Given the description of an element on the screen output the (x, y) to click on. 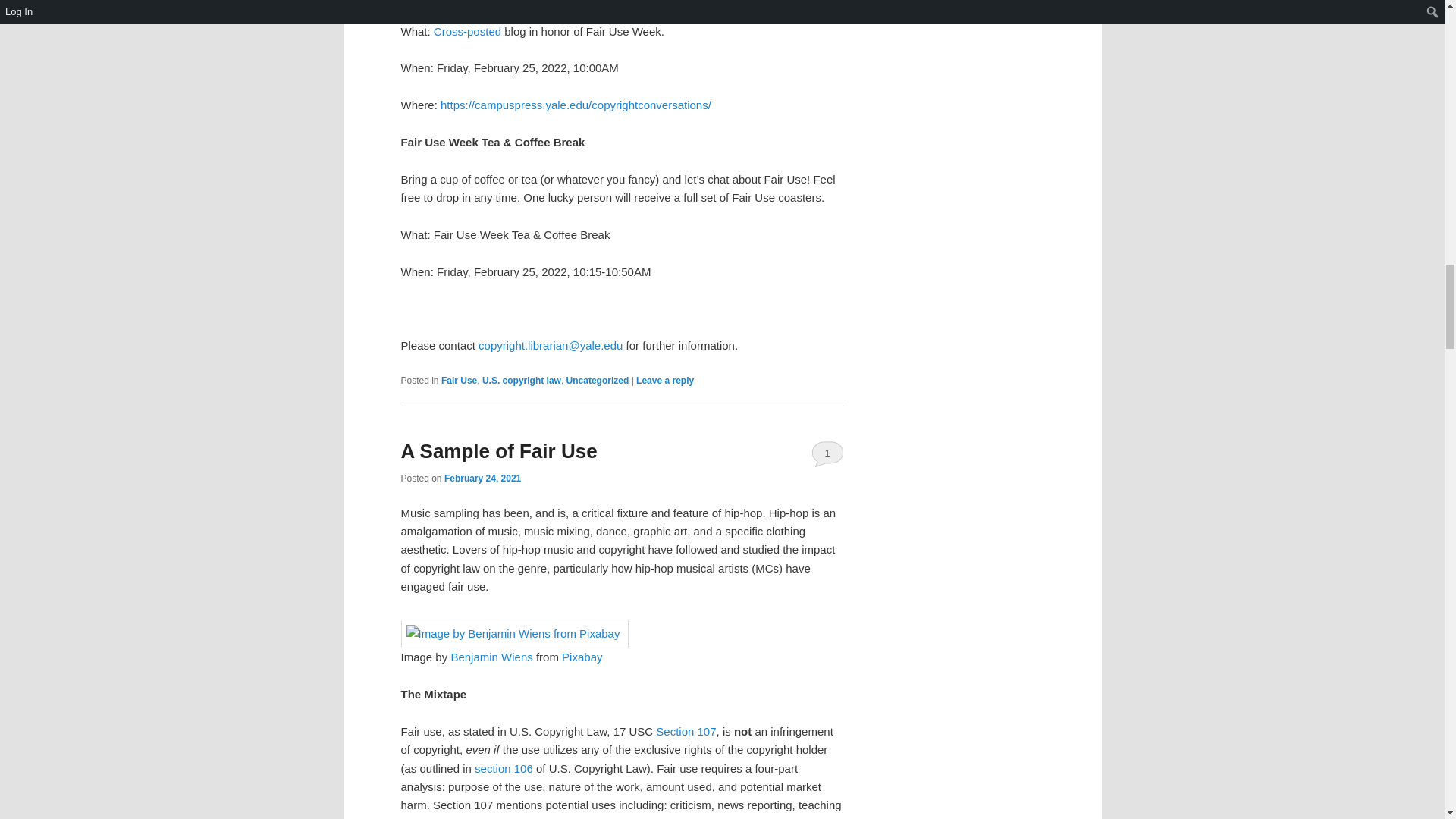
10:00 am (482, 478)
